Given the description of an element on the screen output the (x, y) to click on. 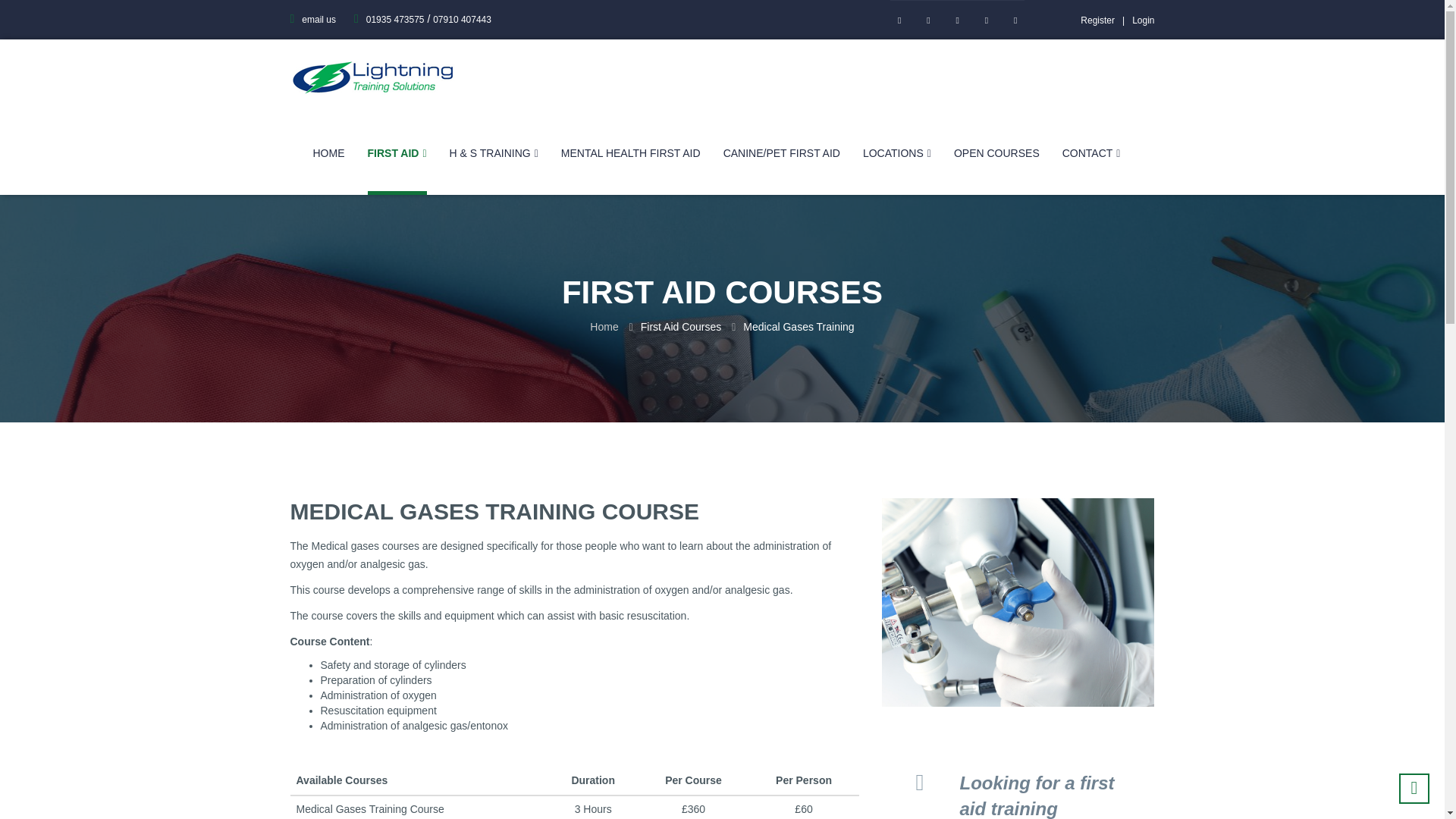
07910 407443 (462, 19)
LOCATIONS (897, 152)
Login (1143, 20)
email us (312, 19)
Register (1106, 20)
01935 473575 (389, 19)
MENTAL HEALTH FIRST AID (630, 152)
